Given the description of an element on the screen output the (x, y) to click on. 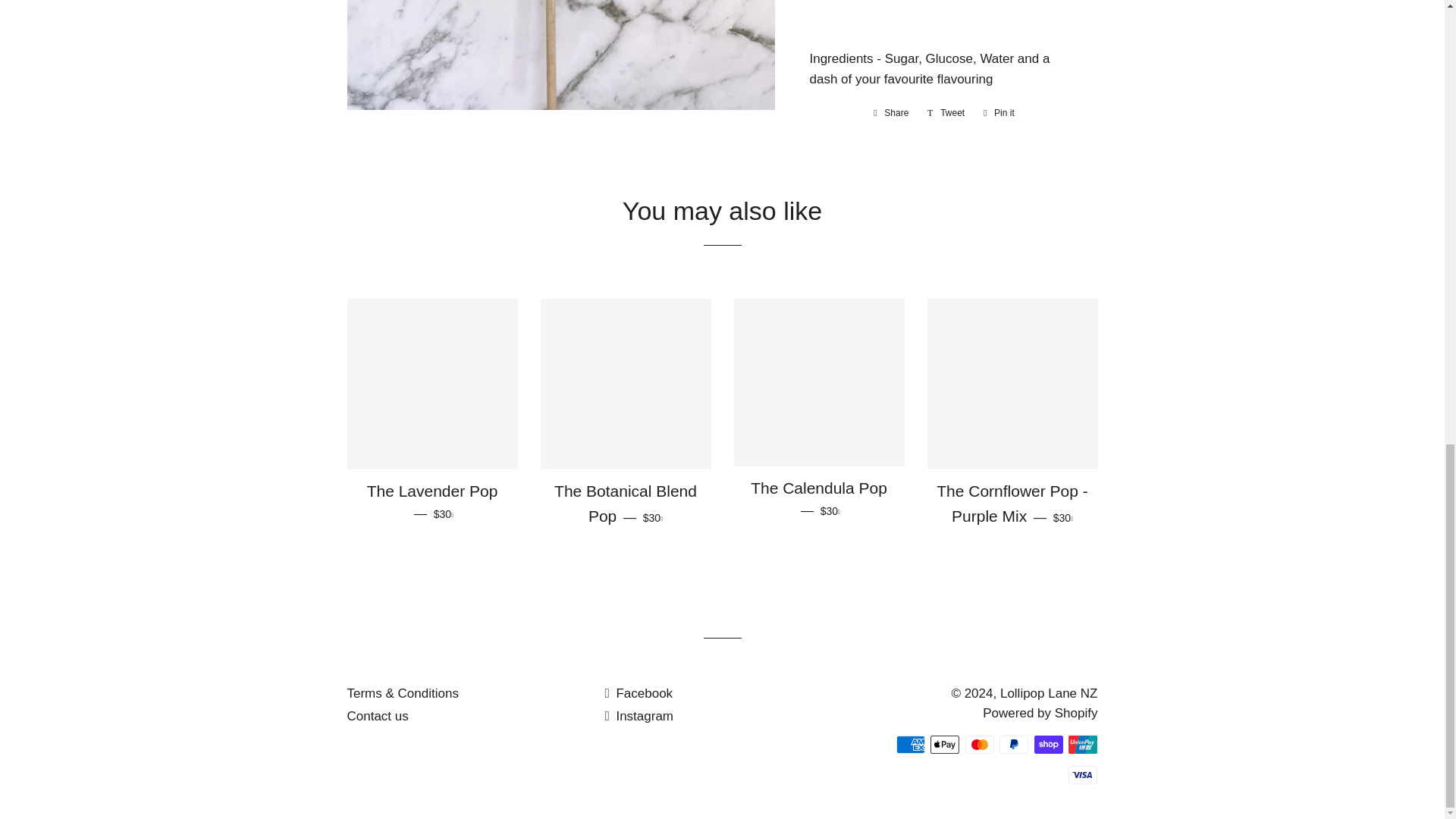
Visa (1082, 774)
American Express (910, 744)
Shop Pay (1047, 744)
Share on Facebook (890, 112)
Lollipop Lane NZ on Instagram (638, 716)
PayPal (1012, 744)
Tweet on Twitter (946, 112)
Pin on Pinterest (890, 112)
Apple Pay (998, 112)
